Given the description of an element on the screen output the (x, y) to click on. 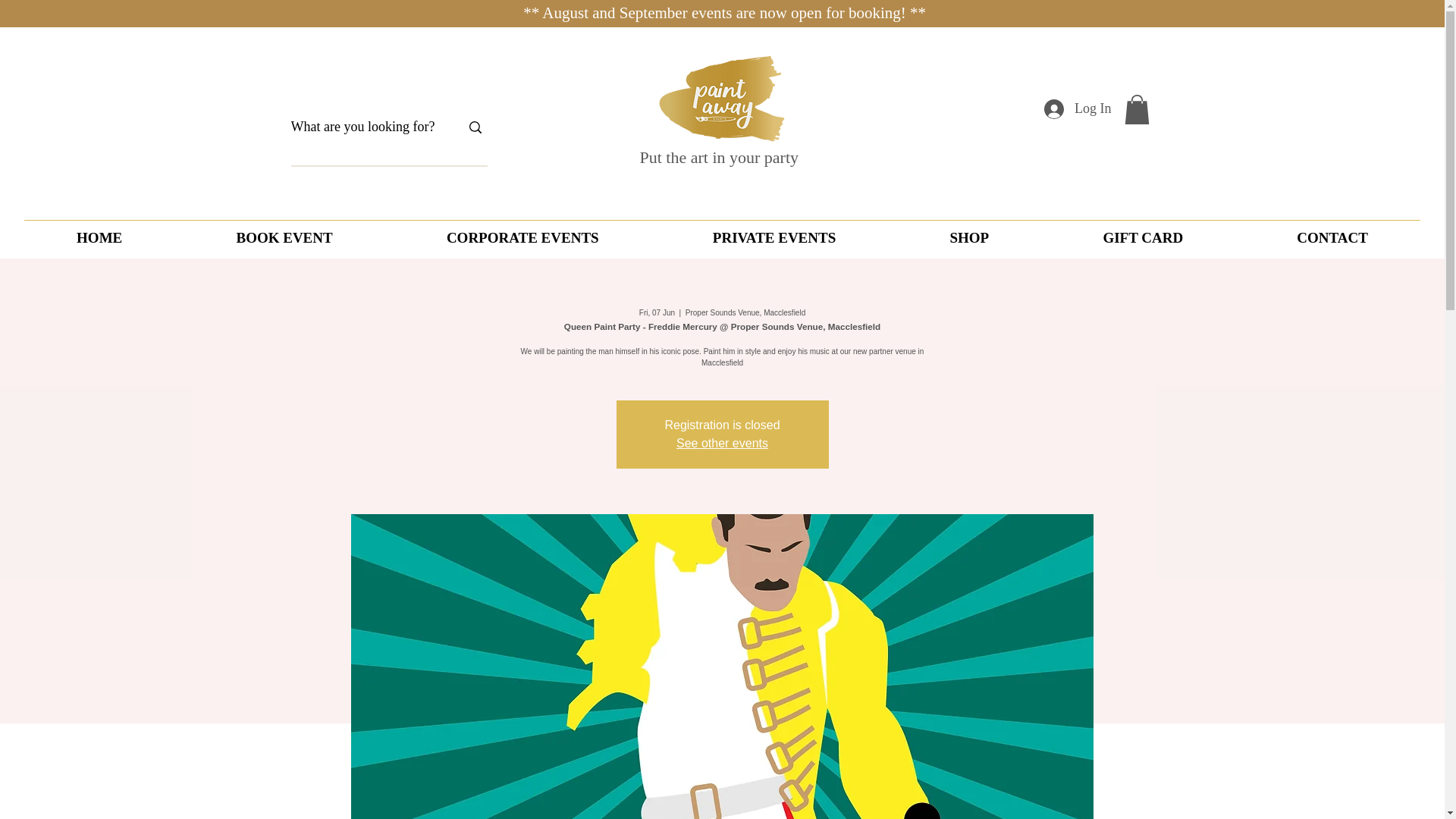
CONTACT (1332, 237)
Log In (1077, 109)
CORPORATE EVENTS (522, 237)
PRIVATE EVENTS (774, 237)
Put the art in your party (720, 157)
GIFT CARD (1142, 237)
See other events (722, 442)
SHOP (968, 237)
HOME (99, 237)
